Given the description of an element on the screen output the (x, y) to click on. 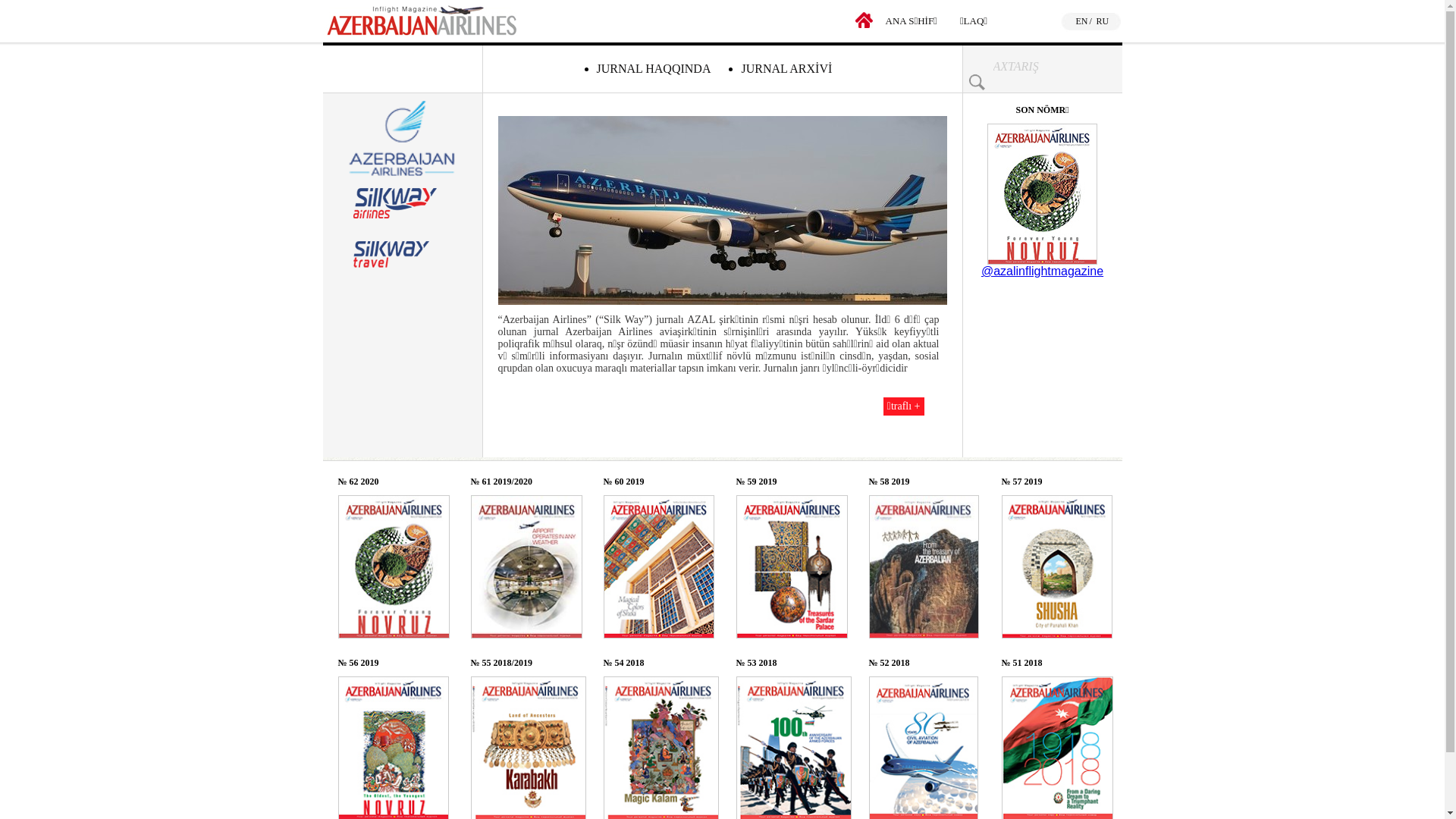
RU Element type: text (1102, 21)
JURNAL HAQQINDA Element type: text (653, 68)
EN Element type: text (1081, 21)
@azalinflightmagazine Element type: text (1042, 270)
